Given the description of an element on the screen output the (x, y) to click on. 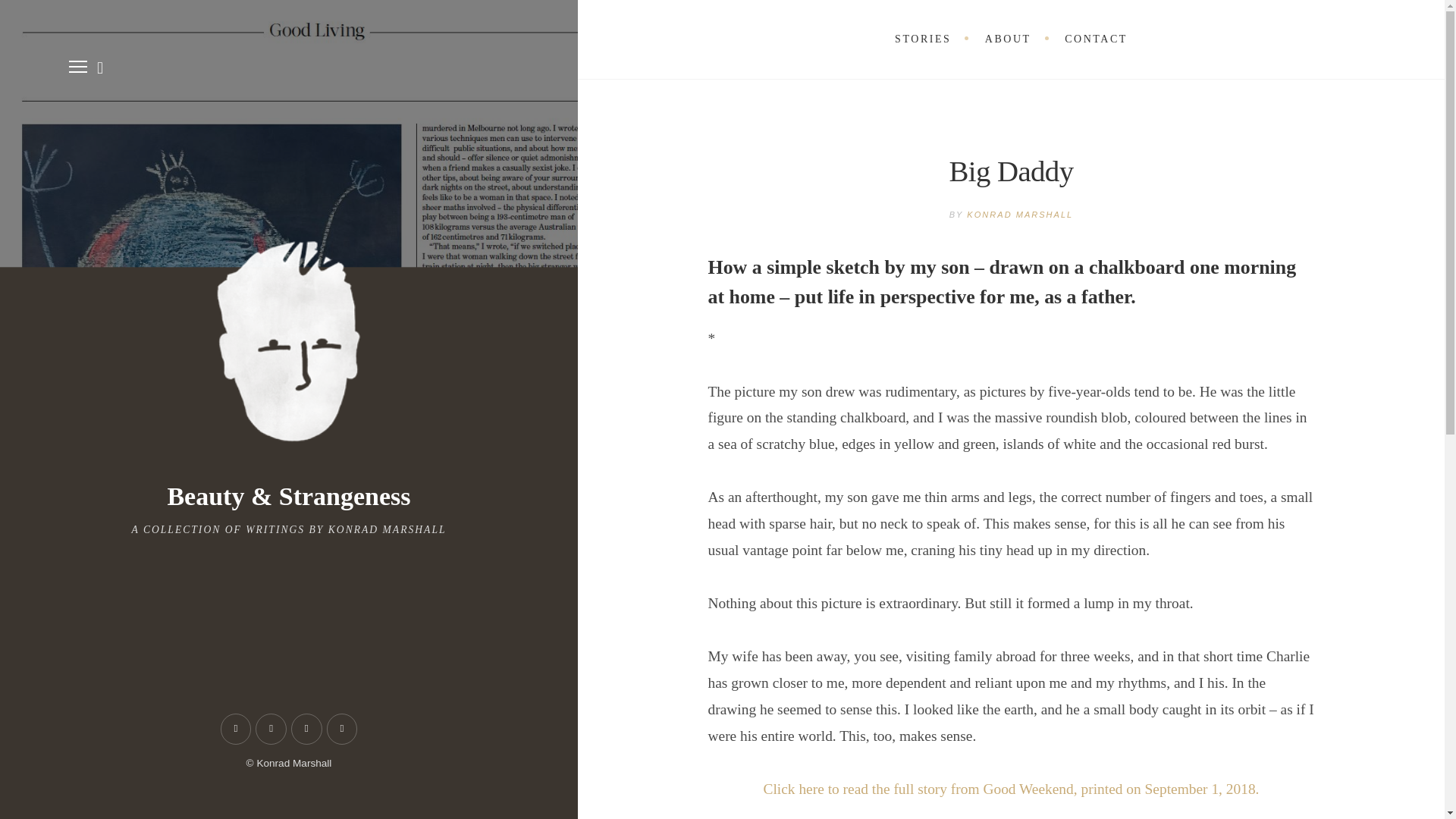
ABOUT (1008, 38)
CONTACT (1095, 38)
STORIES (922, 38)
KONRAD MARSHALL (1019, 214)
